Given the description of an element on the screen output the (x, y) to click on. 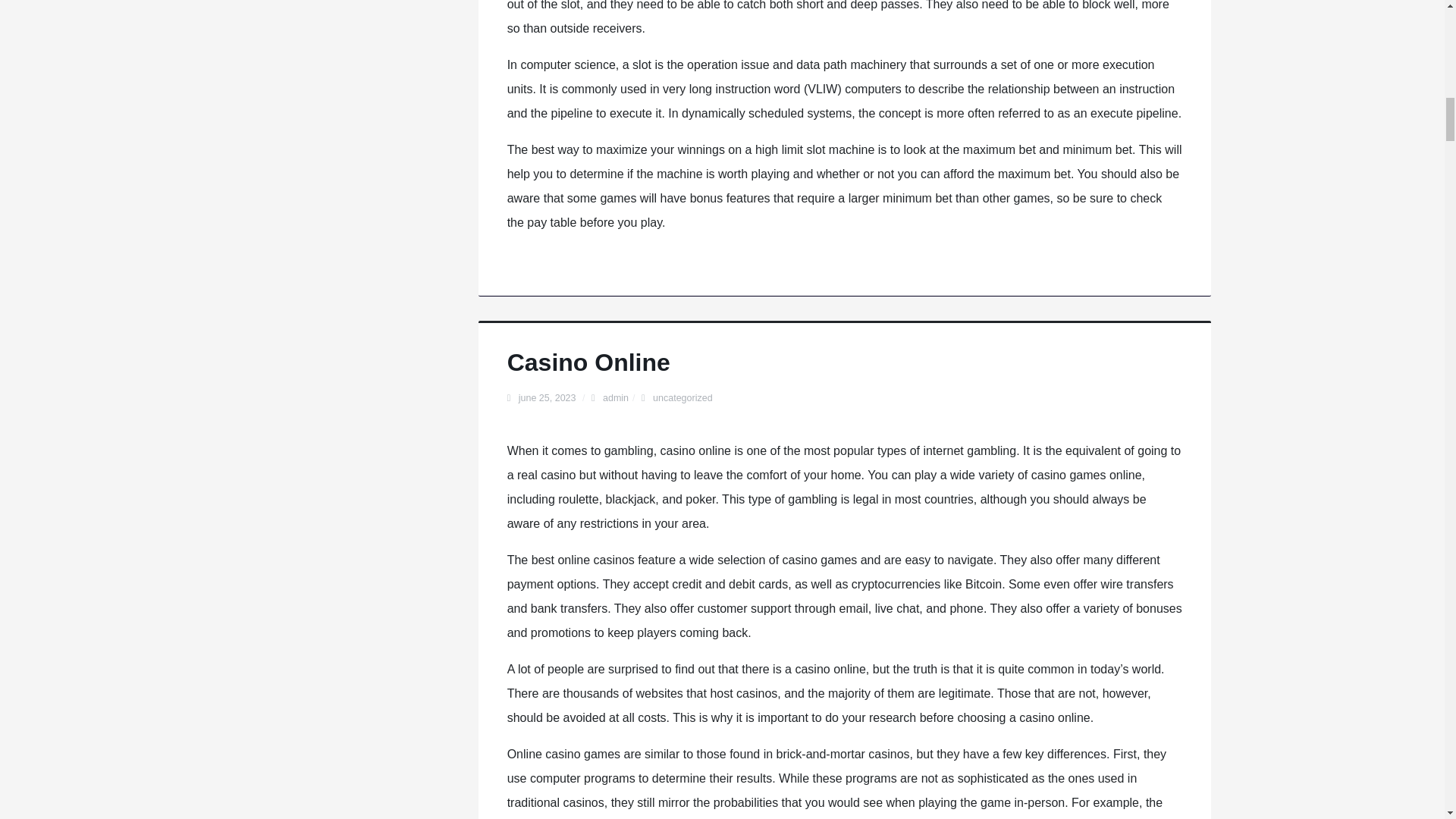
Casino Online (587, 361)
admin (615, 398)
uncategorized (682, 398)
june 25, 2023 (548, 398)
